Given the description of an element on the screen output the (x, y) to click on. 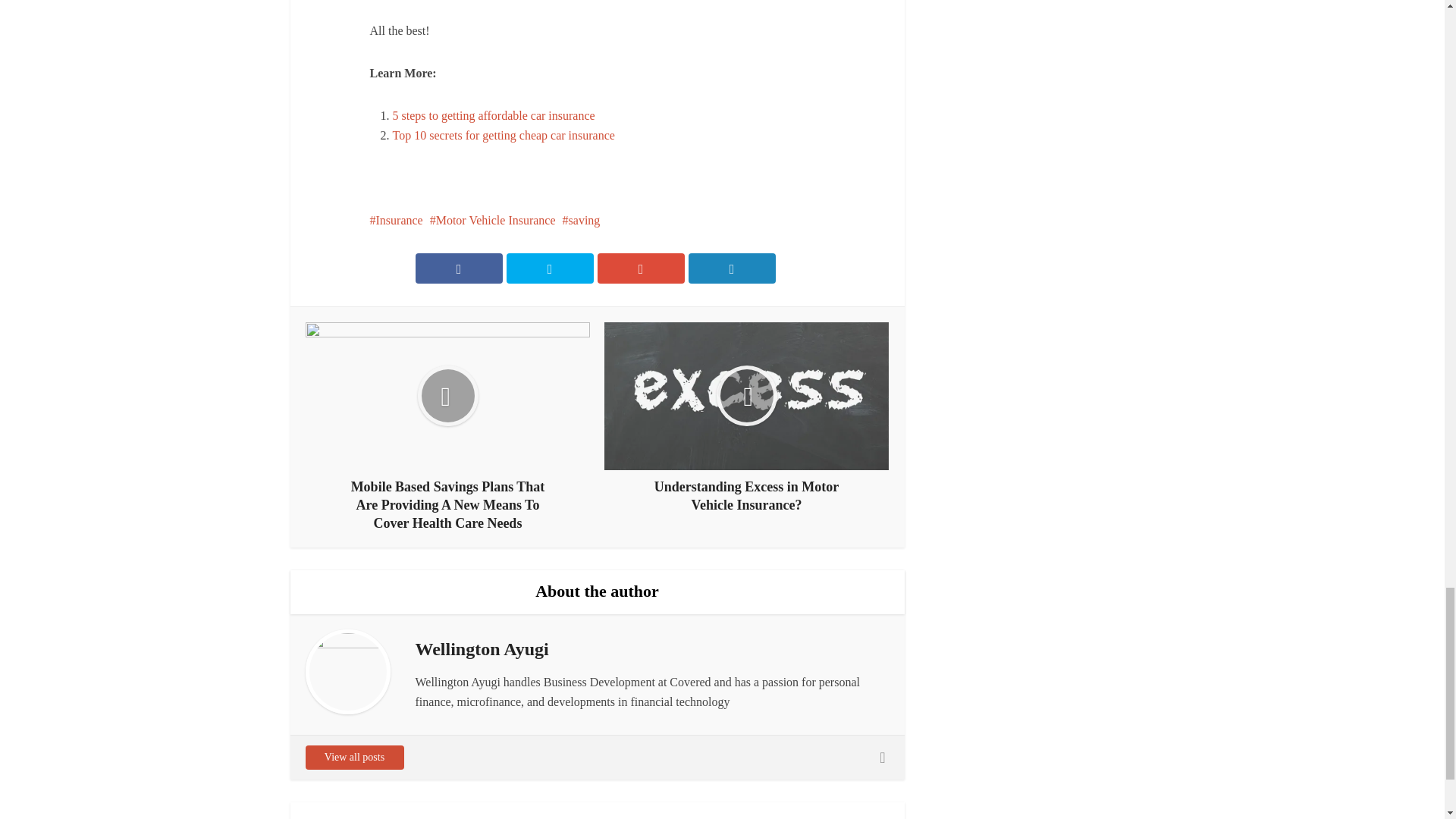
Top 10 secrets for getting cheap car insurance (503, 134)
5 steps to getting affordable car insurance (494, 115)
saving (580, 219)
Understanding Excess in Motor Vehicle Insurance? (746, 418)
View all posts (353, 757)
Insurance (396, 219)
Motor Vehicle Insurance (492, 219)
